Given the description of an element on the screen output the (x, y) to click on. 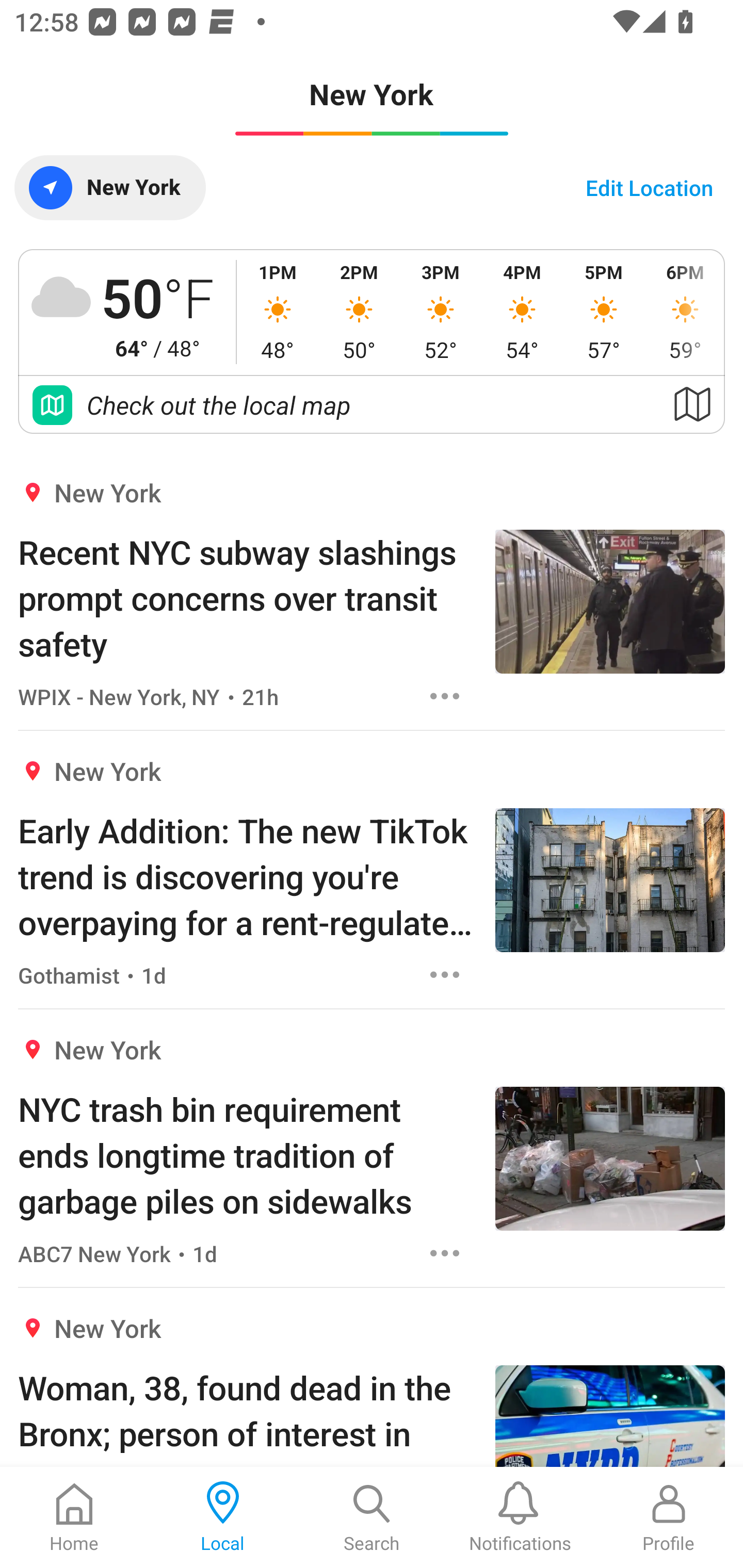
New York (109, 187)
Edit Location (648, 187)
1PM 48° (277, 311)
2PM 50° (358, 311)
3PM 52° (440, 311)
4PM 54° (522, 311)
5PM 57° (603, 311)
6PM 59° (684, 311)
Check out the local map (371, 405)
Options (444, 696)
Options (444, 975)
Options (444, 1253)
Home (74, 1517)
Search (371, 1517)
Notifications (519, 1517)
Profile (668, 1517)
